Given the description of an element on the screen output the (x, y) to click on. 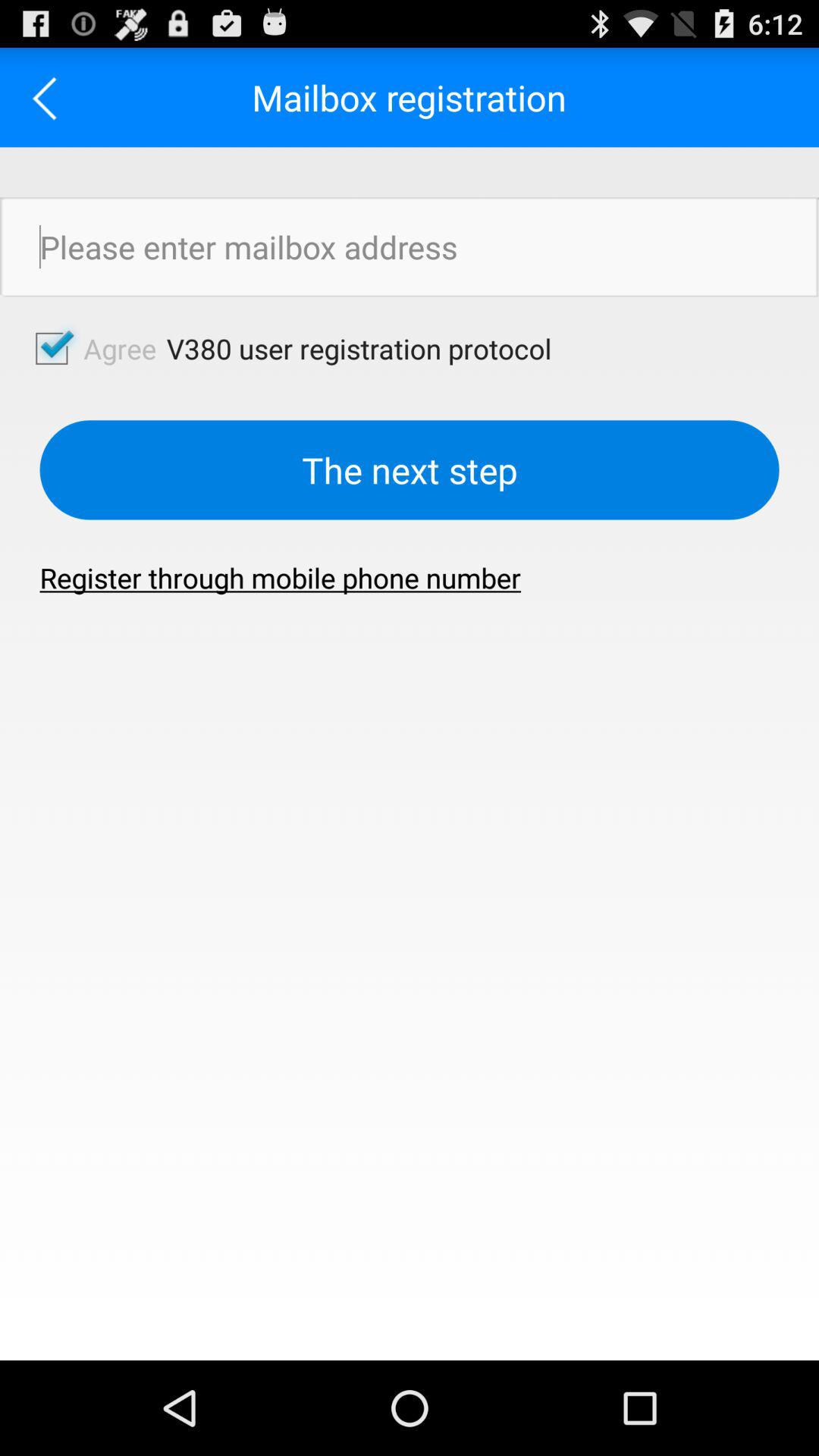
agree to terms and conditions of registration (49, 97)
